Given the description of an element on the screen output the (x, y) to click on. 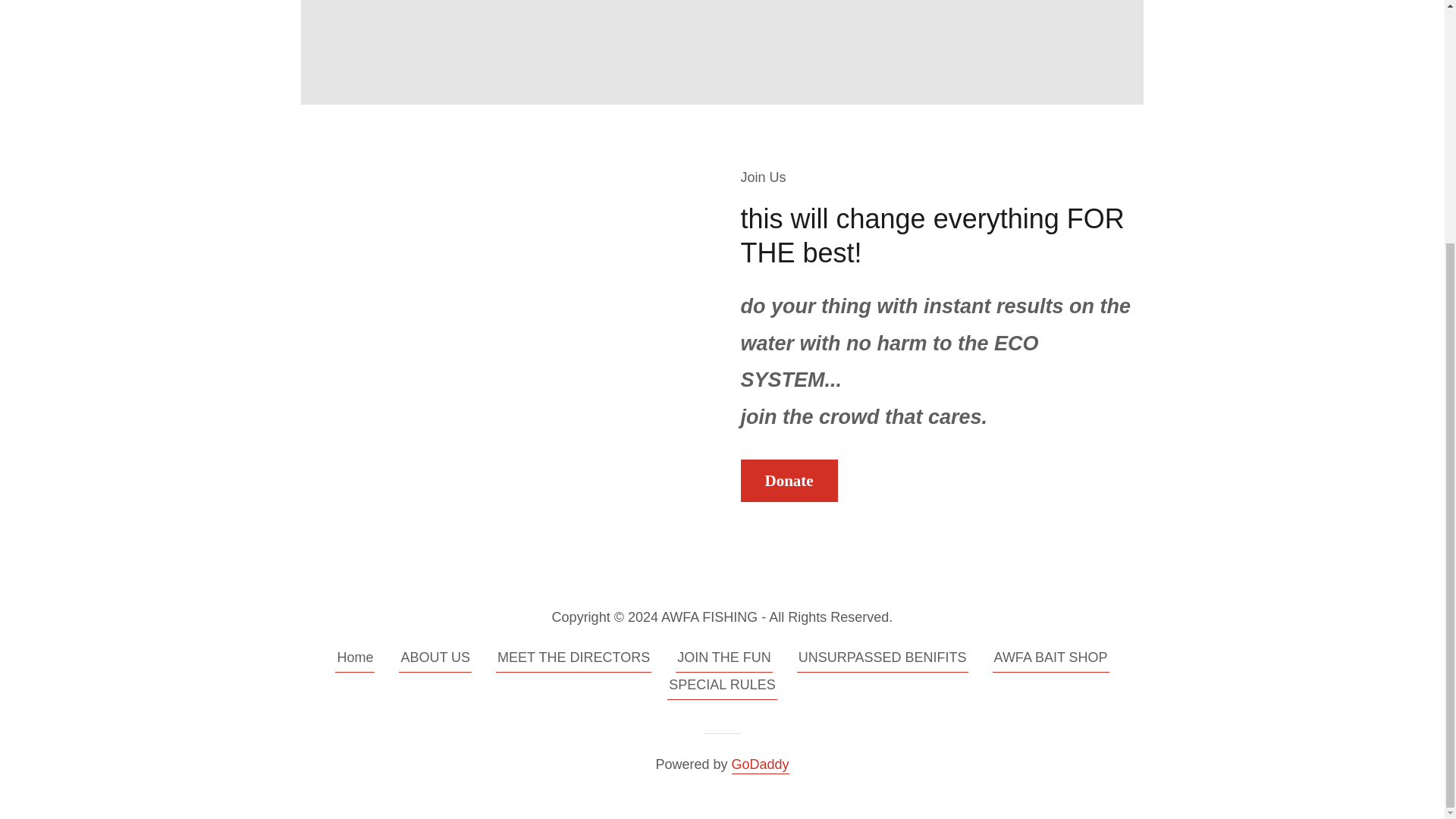
ABOUT US (434, 660)
AWFA BAIT SHOP (1050, 660)
UNSURPASSED BENIFITS (882, 660)
JOIN THE FUN (724, 660)
GoDaddy (759, 764)
Home (354, 660)
Donate (788, 480)
MEET THE DIRECTORS (573, 660)
SPECIAL RULES (721, 687)
